Given the description of an element on the screen output the (x, y) to click on. 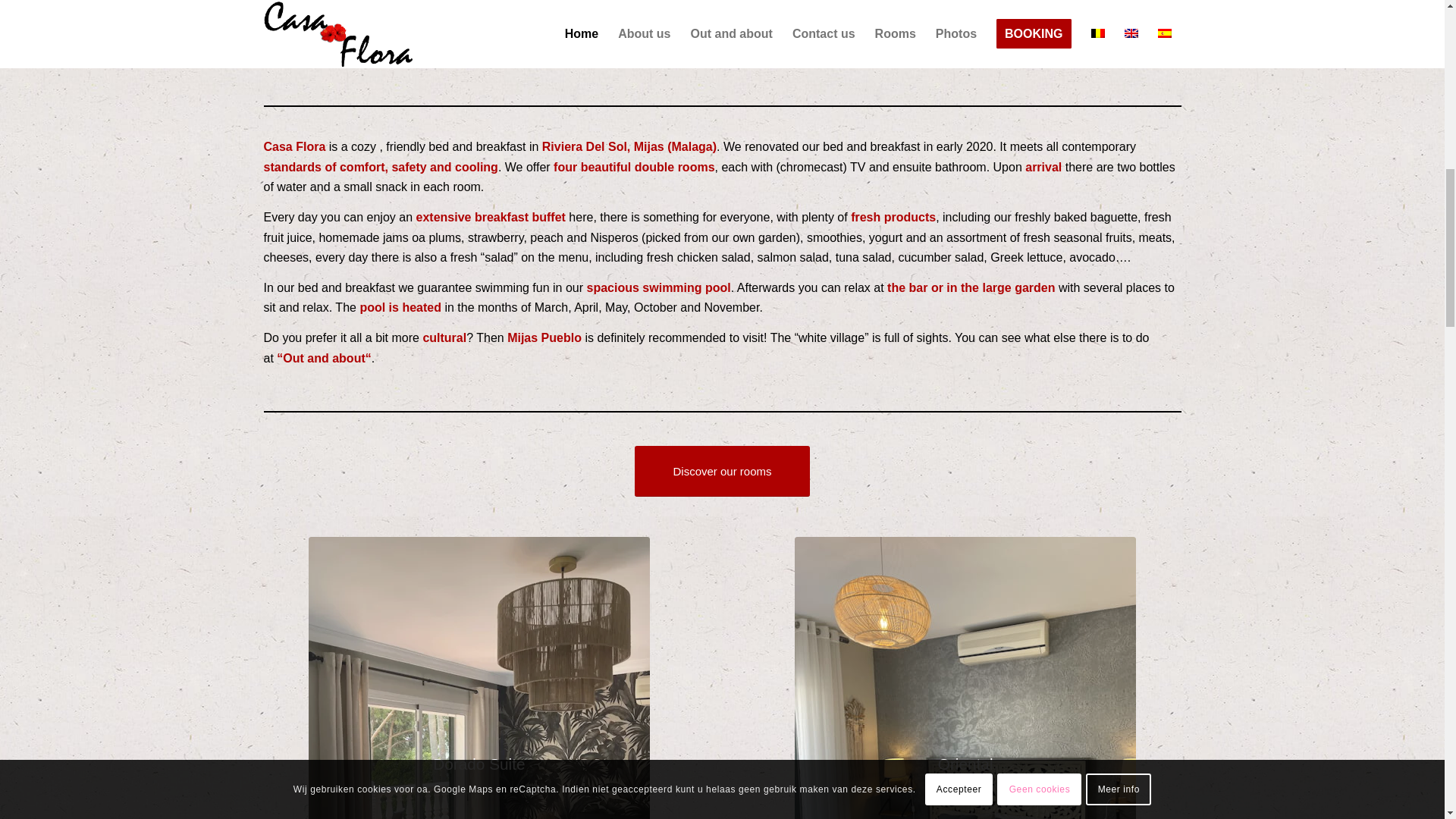
Dorado Suite (478, 678)
Out and about (323, 358)
Oriental (964, 678)
Discover our rooms (721, 470)
